Given the description of an element on the screen output the (x, y) to click on. 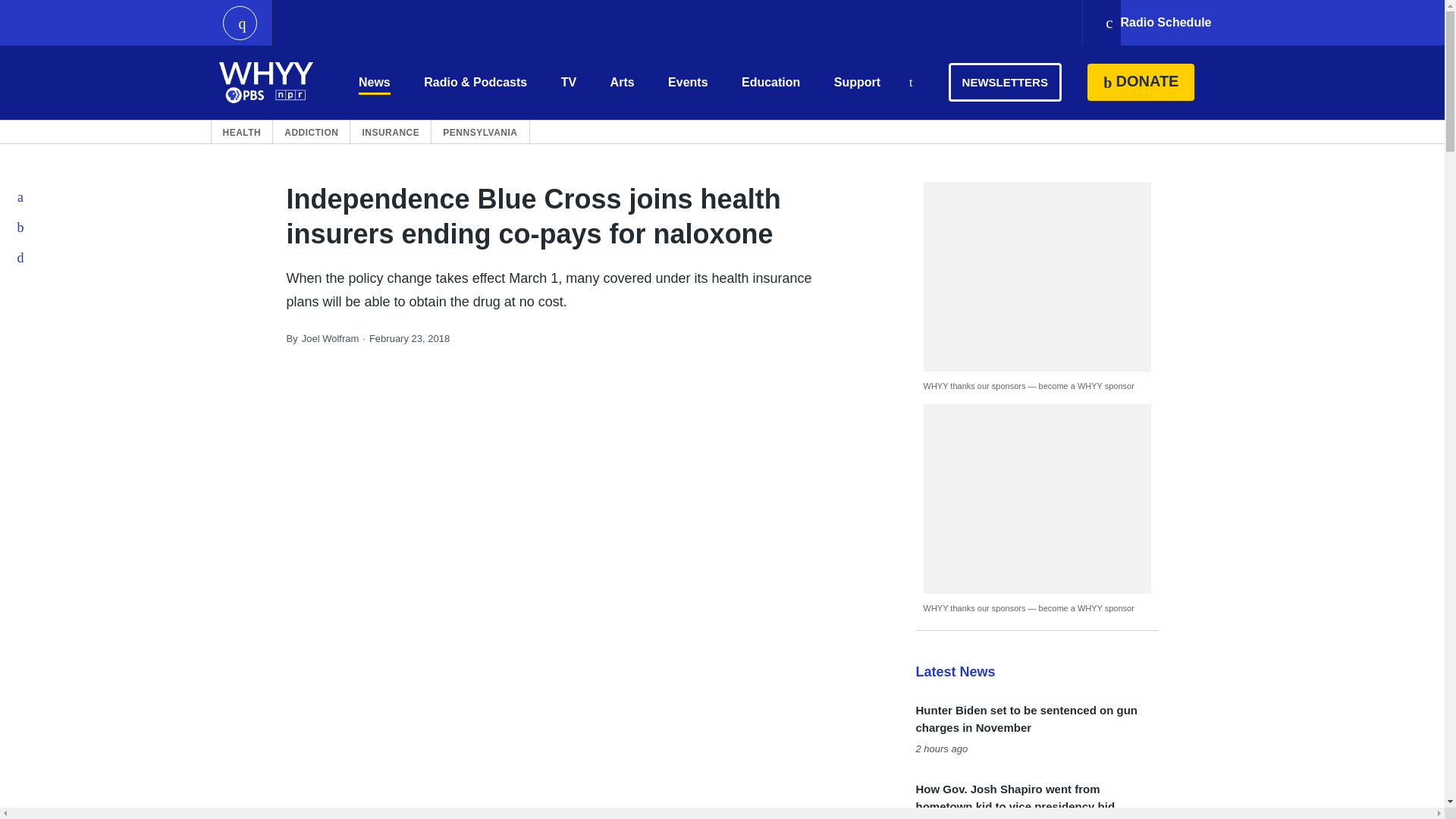
Facebook (21, 196)
WHYY (266, 82)
PENNSYLVANIA (479, 132)
HEALTH (242, 132)
ADDICTION (310, 132)
Email (21, 257)
Twitter (21, 227)
Search (910, 83)
INSURANCE (390, 132)
Radio Schedule (1157, 22)
